Given the description of an element on the screen output the (x, y) to click on. 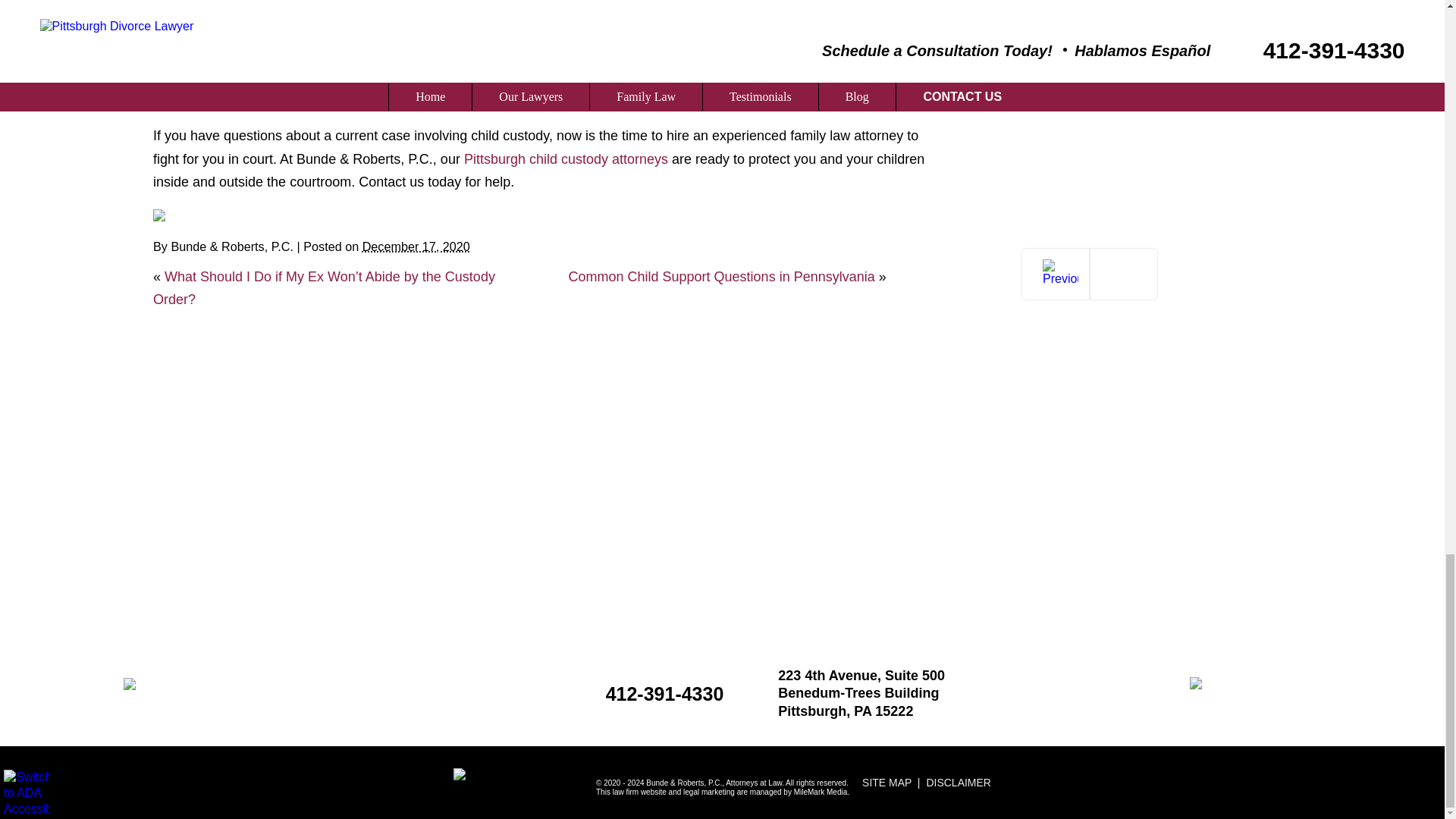
Twitter (169, 215)
LinkedIn (180, 215)
2020-12-17T07:29:26-0800 (416, 246)
Facebook (158, 215)
